Given the description of an element on the screen output the (x, y) to click on. 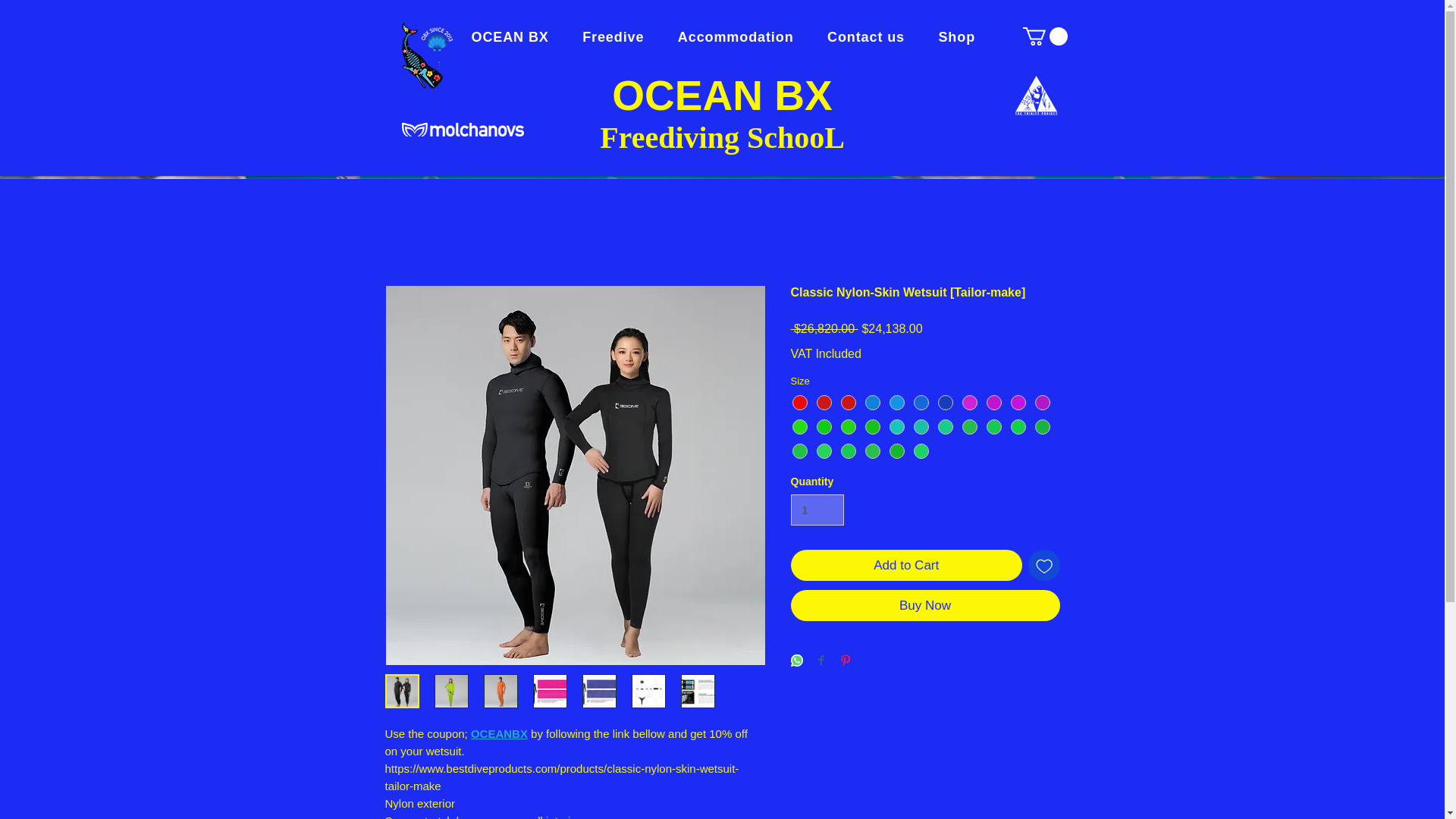
Shop (963, 37)
Freedive (620, 37)
OCEAN BX (517, 37)
Buy Now (924, 604)
Contact us (873, 37)
Add to Cart (906, 565)
OCEAN BX (721, 95)
Accommodation (743, 37)
Freediving SchooL (721, 136)
